Given the description of an element on the screen output the (x, y) to click on. 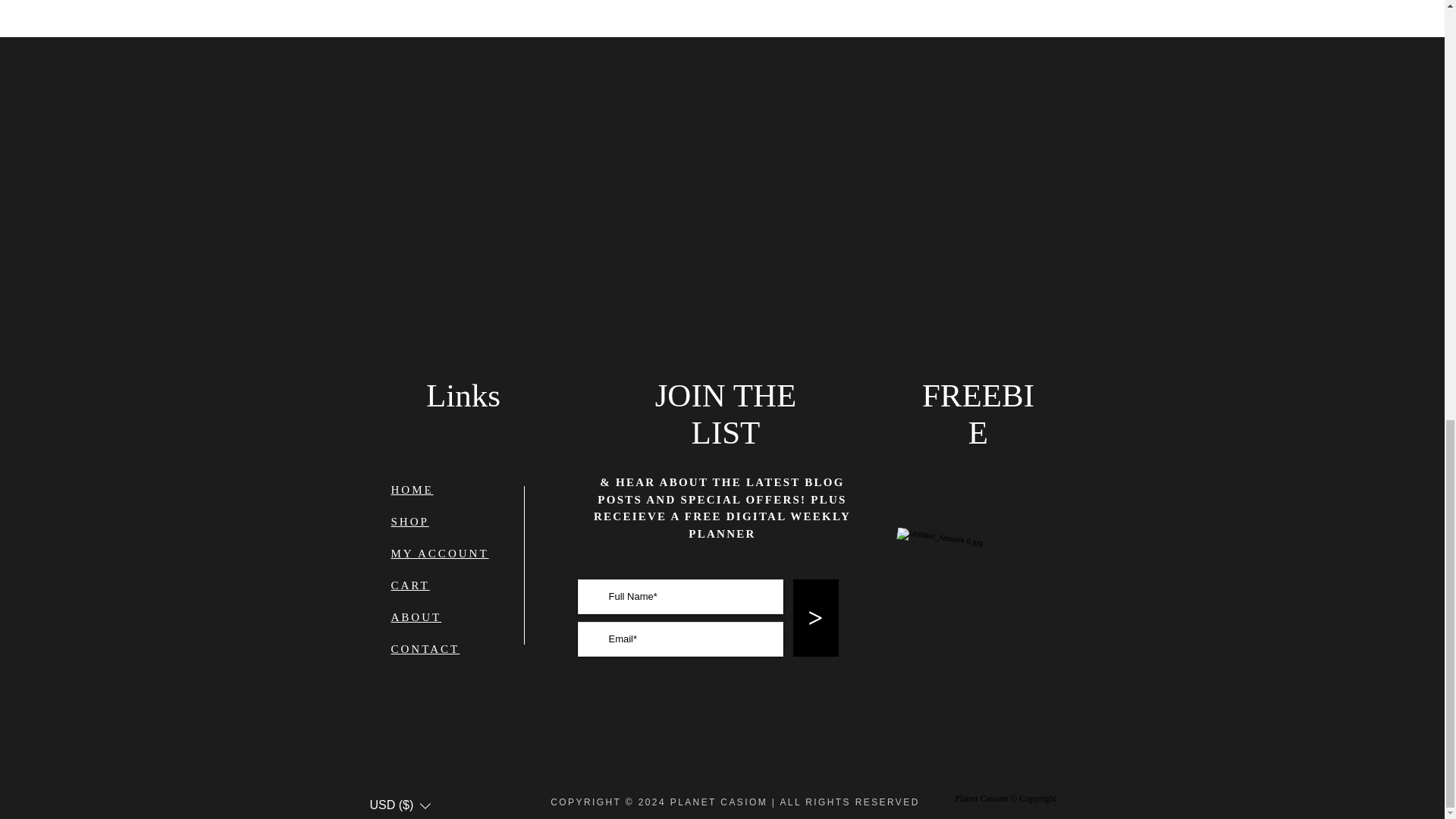
CONTACT (425, 648)
MY ACCOUNT (440, 553)
HOME (412, 490)
ABOUT (416, 616)
SHOP (410, 521)
CART (410, 585)
